Given the description of an element on the screen output the (x, y) to click on. 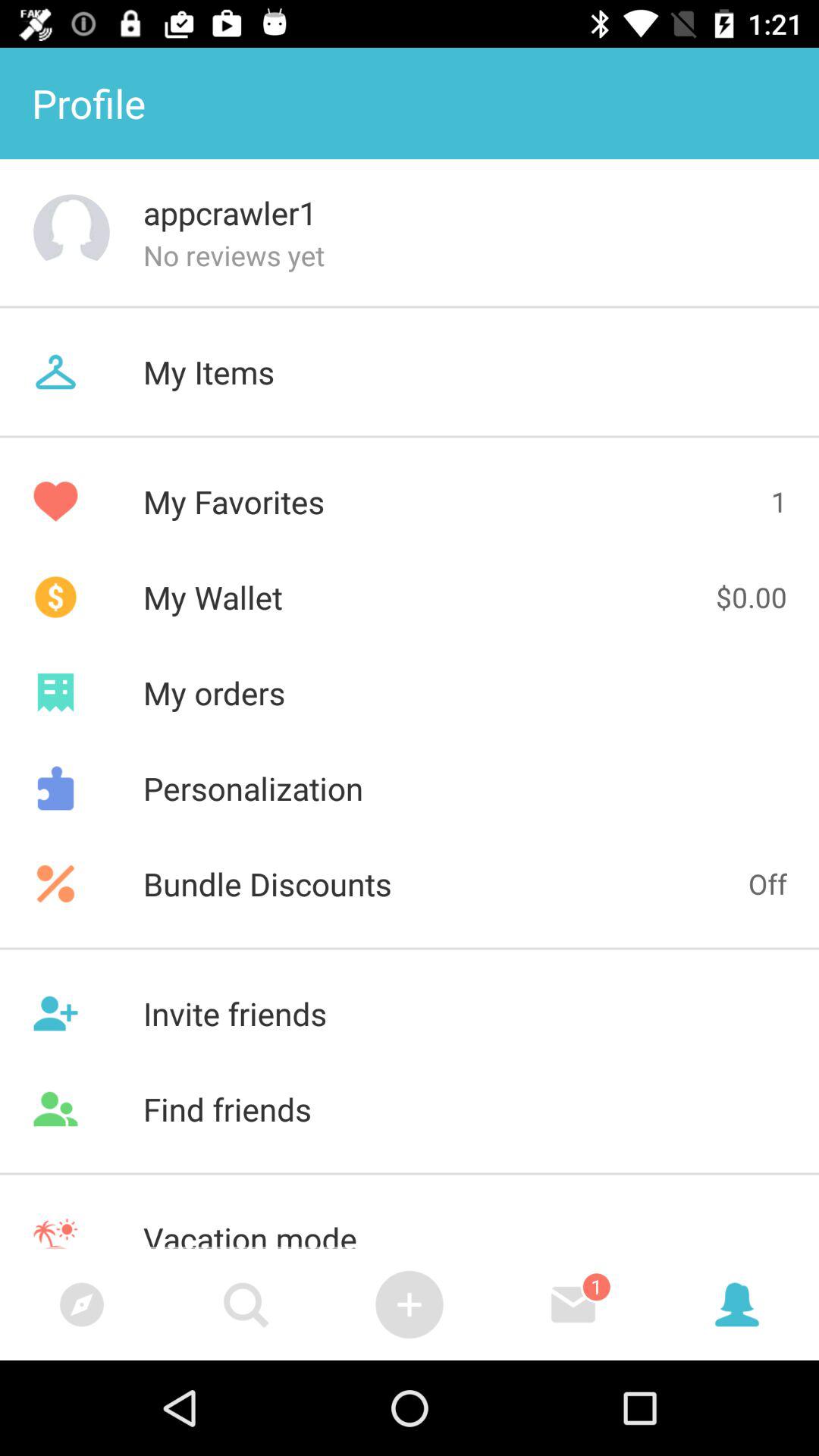
flip until personalization item (409, 788)
